Given the description of an element on the screen output the (x, y) to click on. 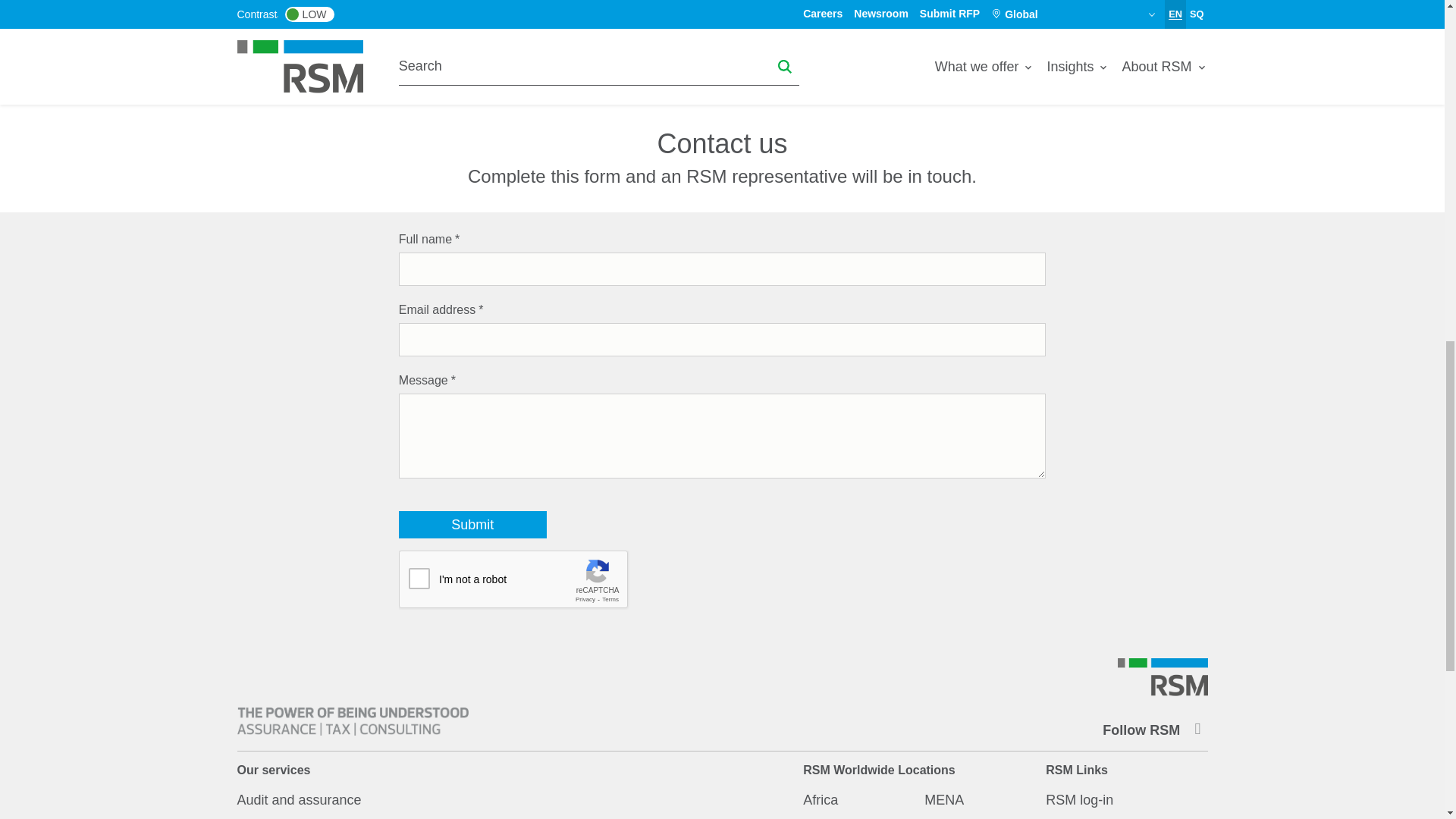
Submit (472, 524)
reCAPTCHA (513, 579)
